Given the description of an element on the screen output the (x, y) to click on. 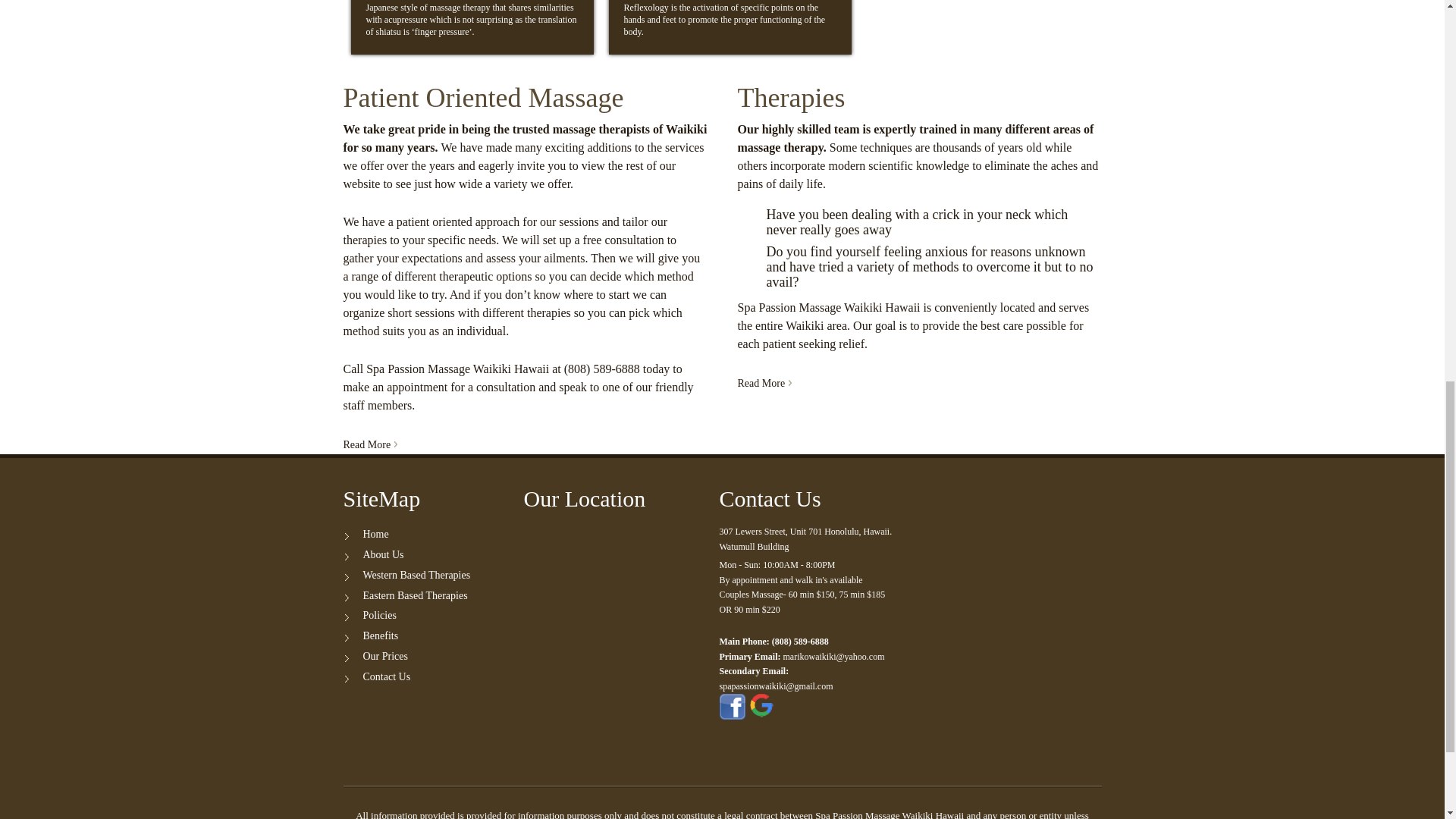
Policies (379, 614)
Waikiki Sports Therapy (764, 383)
Eastern Based Therapies (414, 595)
Home (375, 533)
About Spa Passion Massage Waikiki Hawaii (370, 444)
Western Based Therapies (416, 574)
Read More (370, 444)
Our Prices (384, 655)
Read More (764, 383)
Contact Us (386, 676)
Benefits (379, 635)
About Us (382, 554)
